Given the description of an element on the screen output the (x, y) to click on. 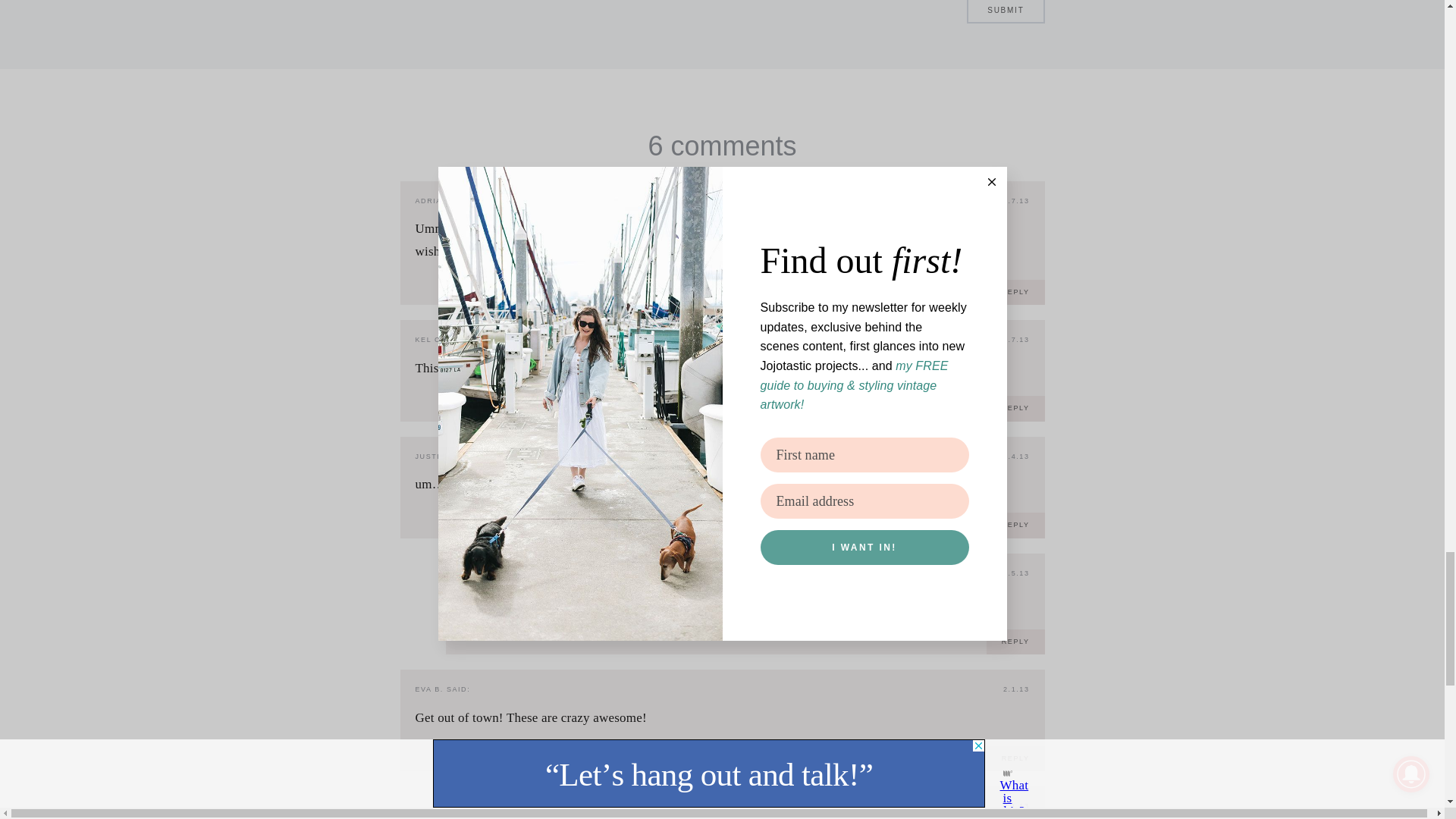
Submit (1004, 11)
